Given the description of an element on the screen output the (x, y) to click on. 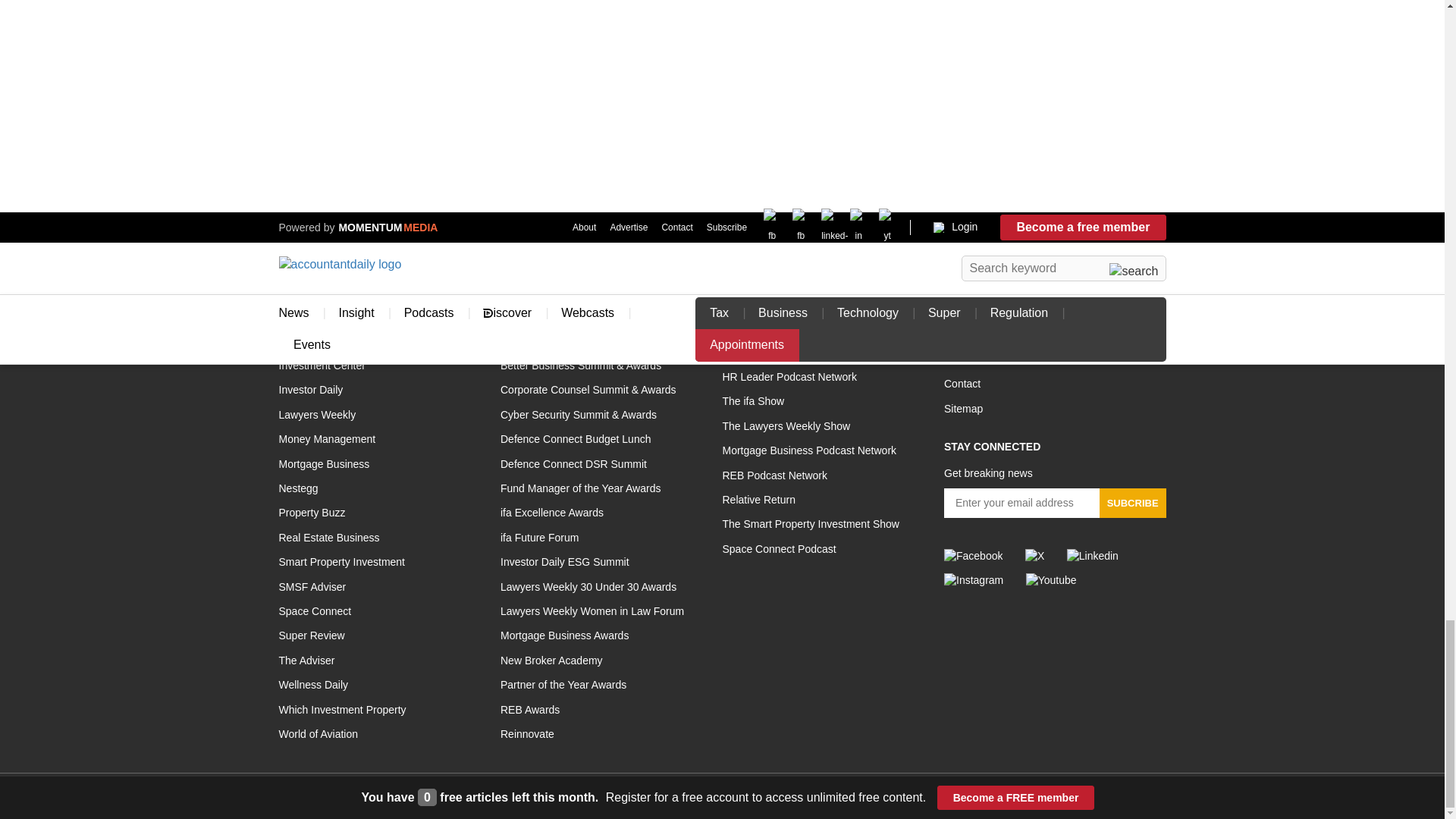
SUBCRIBE (1132, 502)
